Given the description of an element on the screen output the (x, y) to click on. 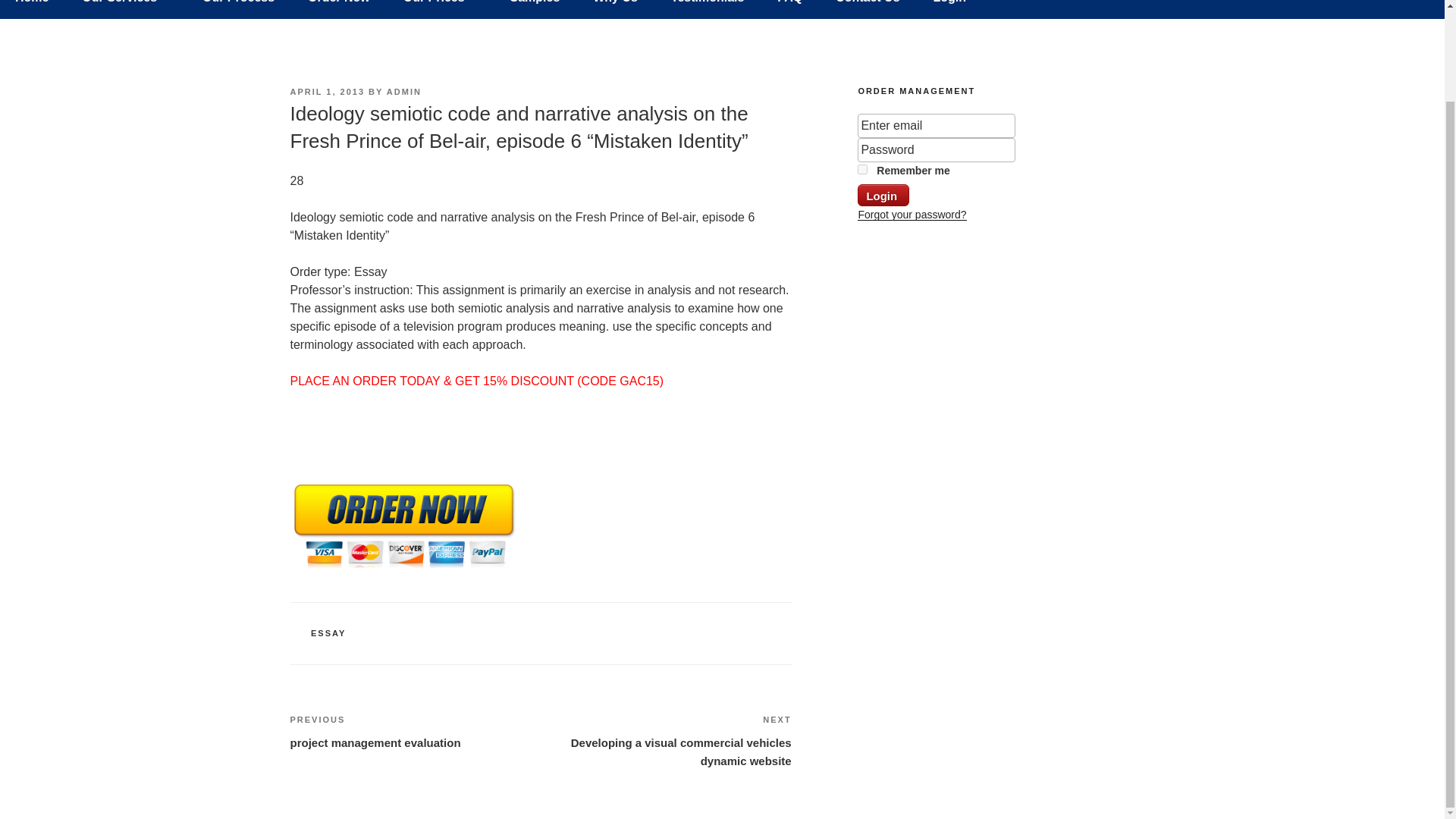
Contact Us (867, 9)
ESSAY (328, 633)
on (862, 169)
Our Prices (440, 9)
Recover password (911, 214)
Our Process (238, 9)
Home (32, 9)
ADMIN (404, 91)
Click to Order (402, 567)
click to Login (882, 195)
